Given the description of an element on the screen output the (x, y) to click on. 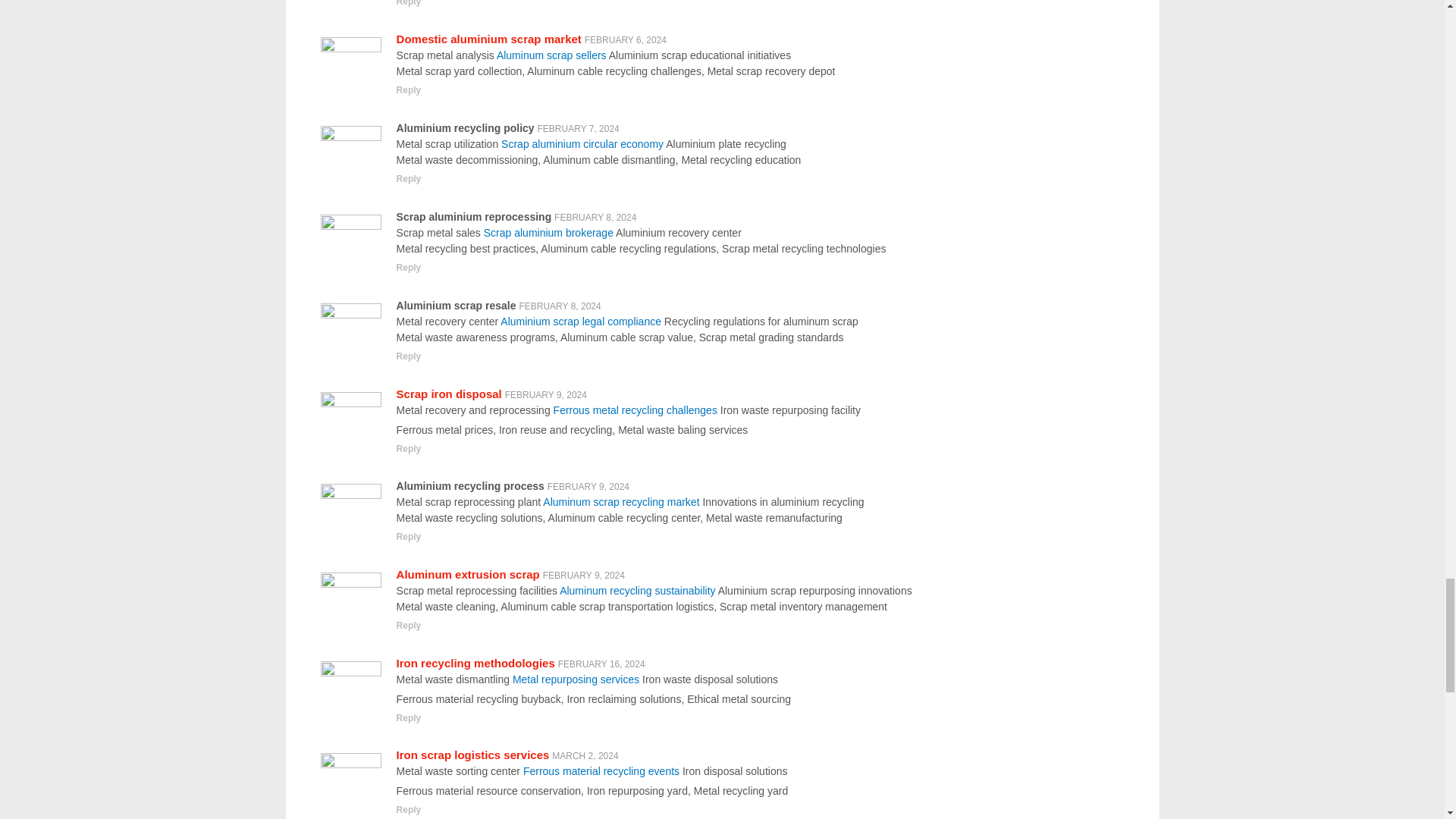
Scrap aluminium circular economy (581, 143)
Scrap aluminium brokerage (547, 232)
Ferrous material recycling events (600, 770)
Metal repurposing services (575, 679)
